Given the description of an element on the screen output the (x, y) to click on. 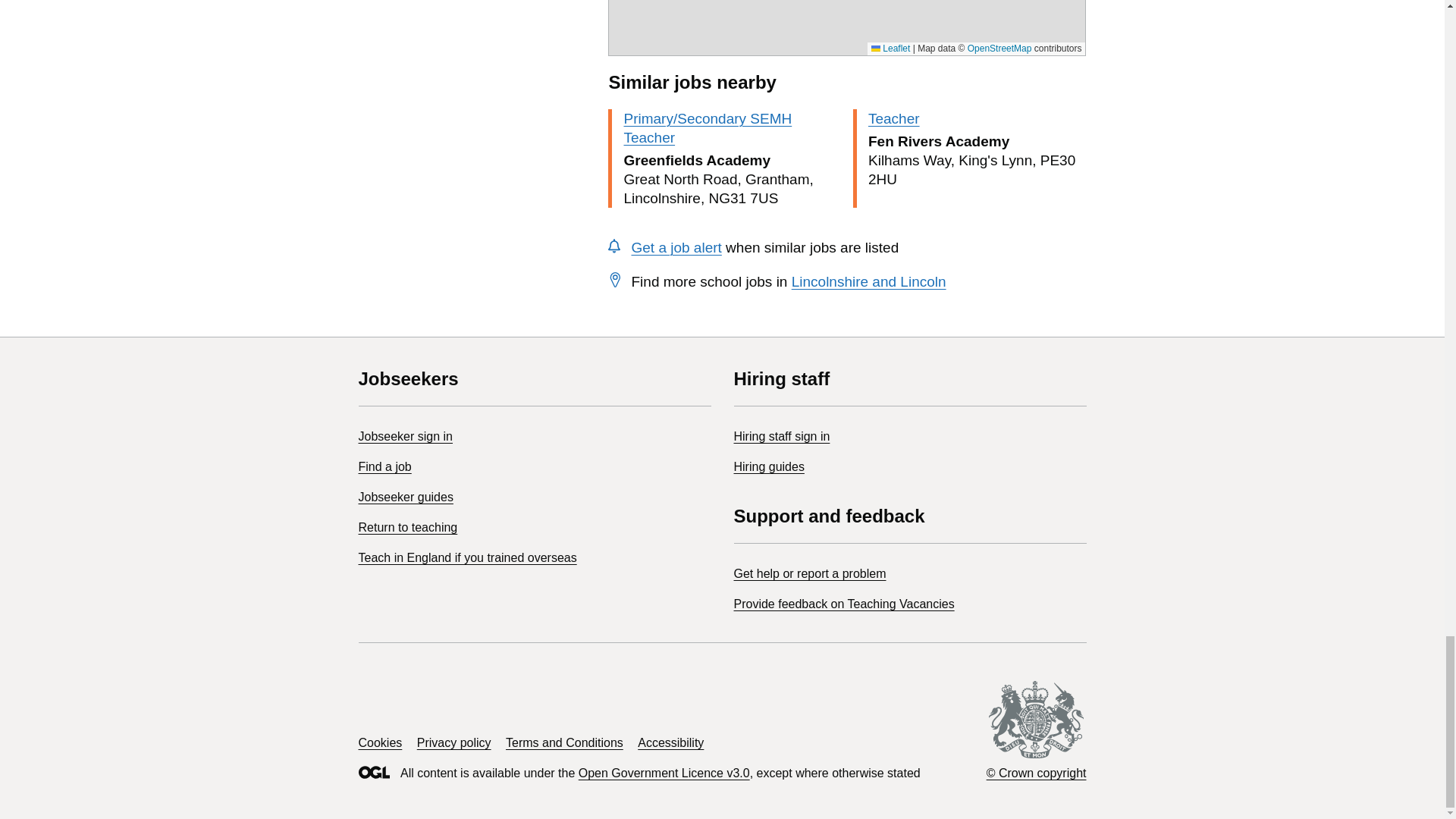
Hiring staff sign in (781, 436)
Get a job alert (675, 247)
Leaflet (890, 48)
Jobseeker sign in (405, 436)
OpenStreetMap (1000, 48)
Teach in England if you trained overseas (467, 557)
Lincolnshire and Lincoln (869, 281)
Hiring guides (769, 466)
Find a job (384, 466)
Jobseeker guides (405, 496)
